Given the description of an element on the screen output the (x, y) to click on. 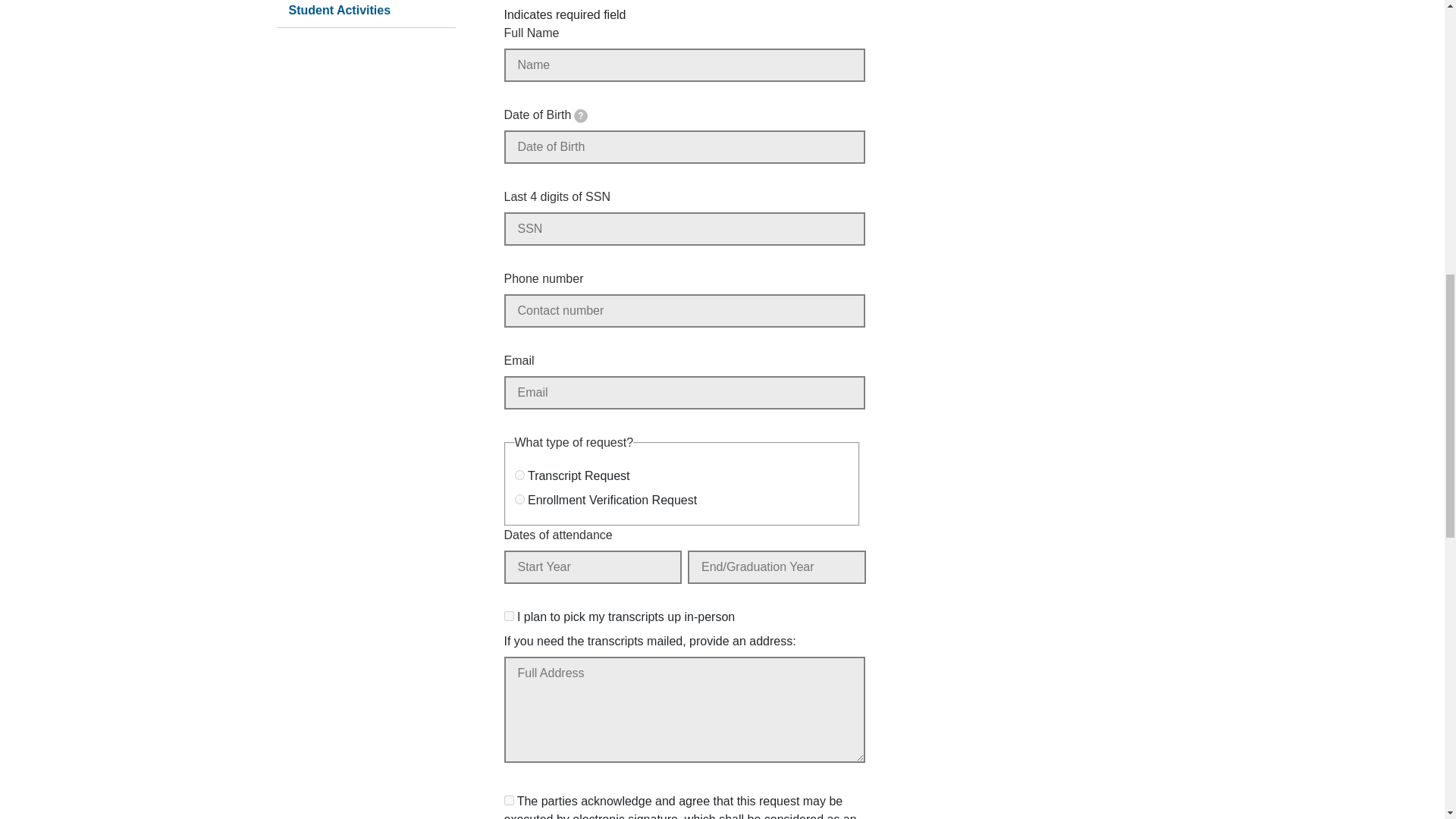
Transcript Request (518, 474)
1 (508, 615)
1 (508, 800)
Enrollment Verification Request (518, 499)
